Given the description of an element on the screen output the (x, y) to click on. 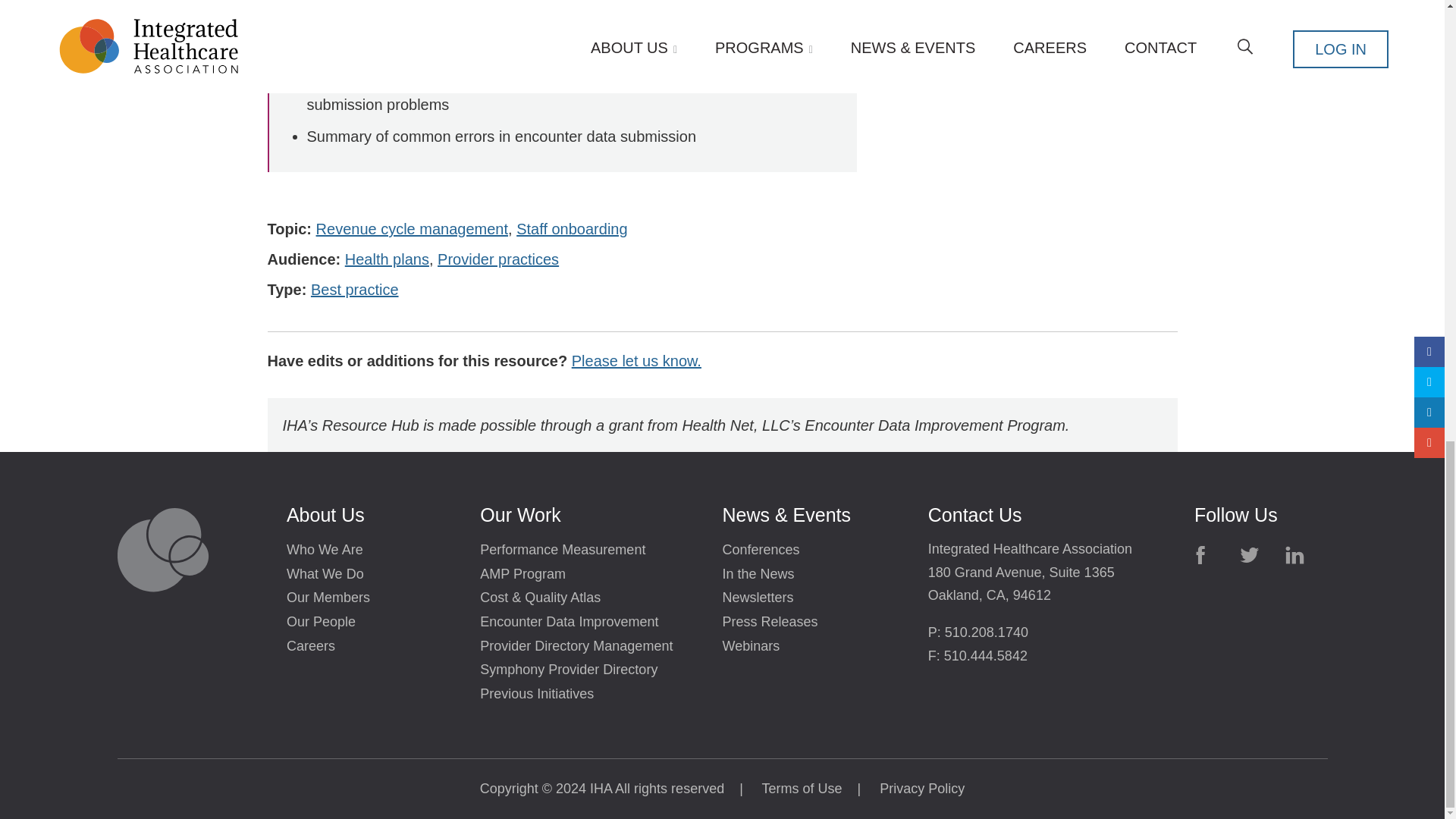
Health plans (387, 260)
Revenue cycle management (411, 230)
Provider practices (498, 260)
Please let us know. (636, 362)
Best practice (354, 291)
Staff onboarding (571, 230)
